Given the description of an element on the screen output the (x, y) to click on. 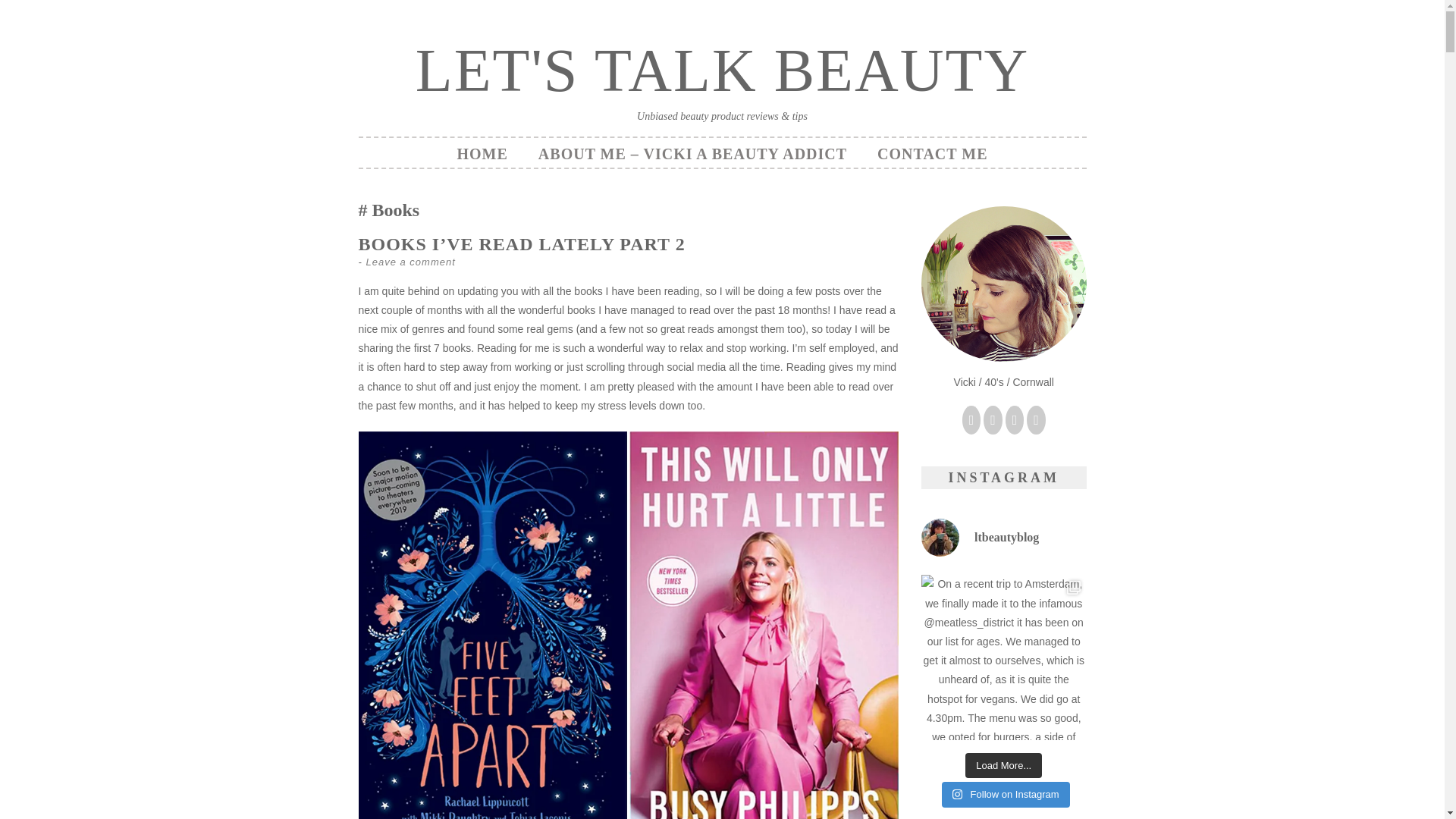
Leave a comment (409, 261)
CONTACT ME (932, 153)
LET'S TALK BEAUTY (721, 70)
HOME (481, 153)
